Given the description of an element on the screen output the (x, y) to click on. 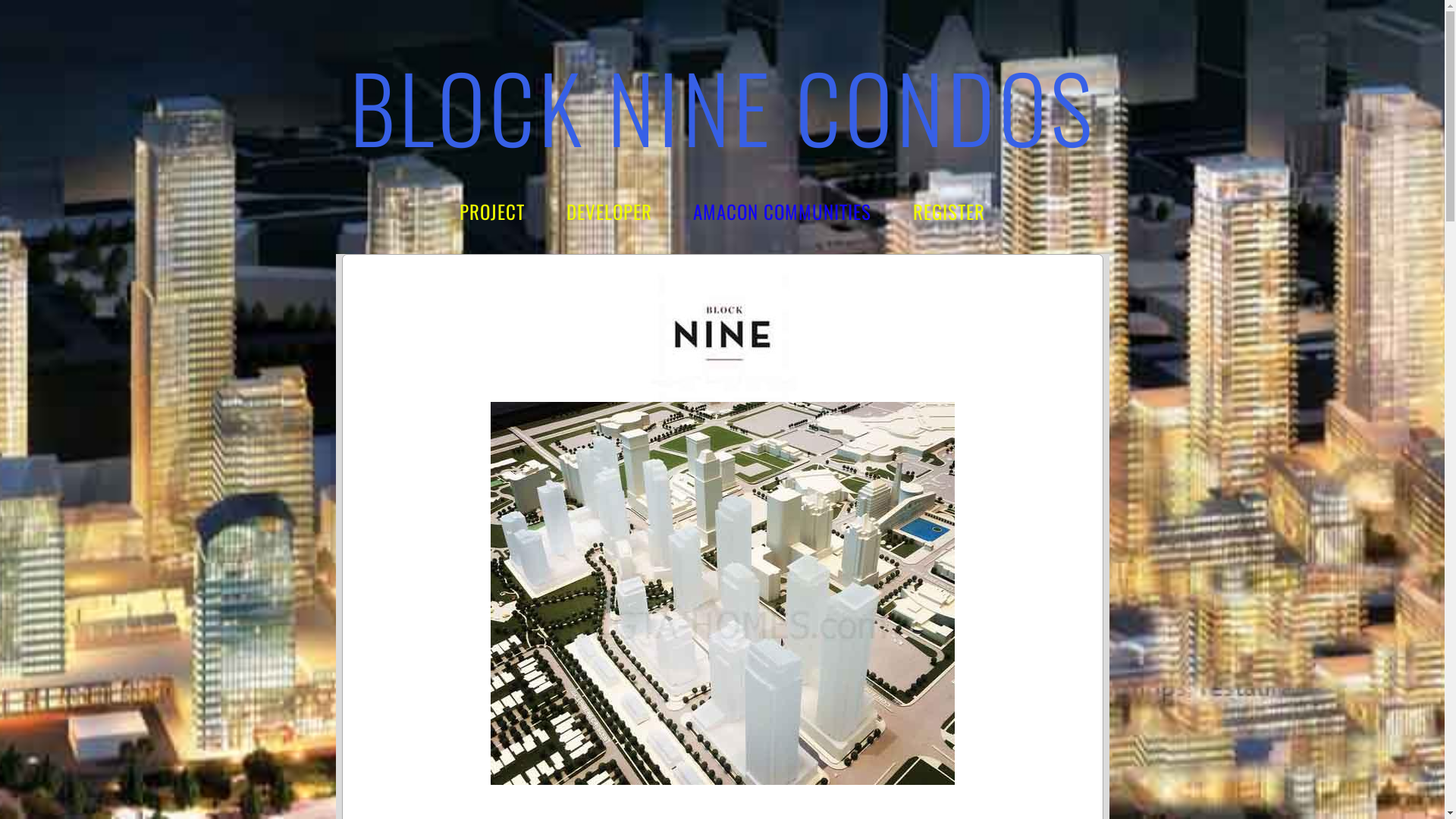
PROJECT Element type: text (491, 211)
BLOCK NINE CONDOS Element type: text (721, 105)
DEVELOPER Element type: text (609, 211)
REGISTER Element type: text (949, 211)
AMACON COMMUNITIES Element type: text (782, 211)
